Given the description of an element on the screen output the (x, y) to click on. 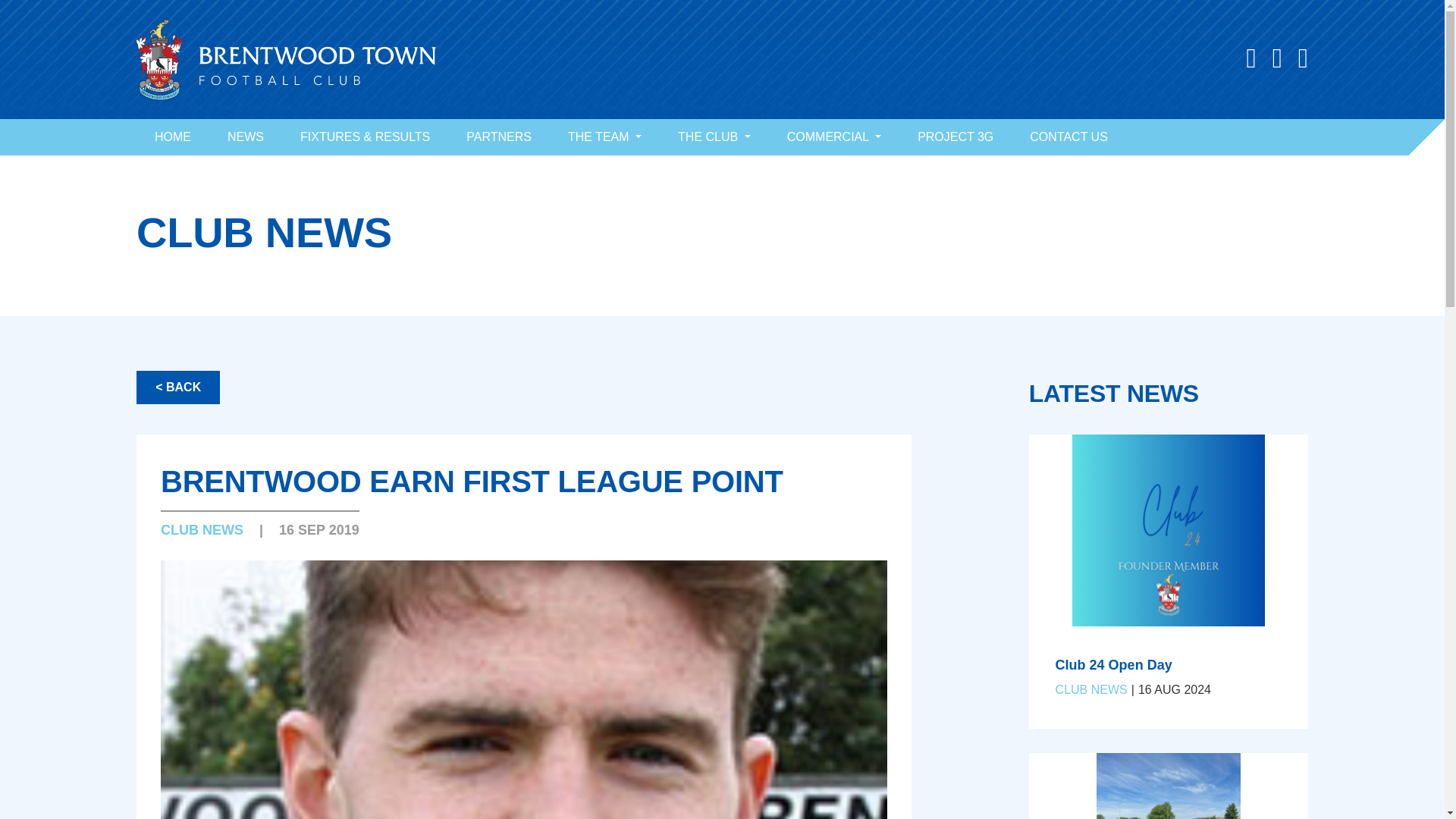
CONTACT US (1068, 136)
PARTNERS (499, 136)
COMMERCIAL (833, 136)
THE CLUB (713, 136)
THE TEAM (604, 136)
PROJECT 3G (955, 136)
HOME (172, 136)
NEWS (245, 136)
